Given the description of an element on the screen output the (x, y) to click on. 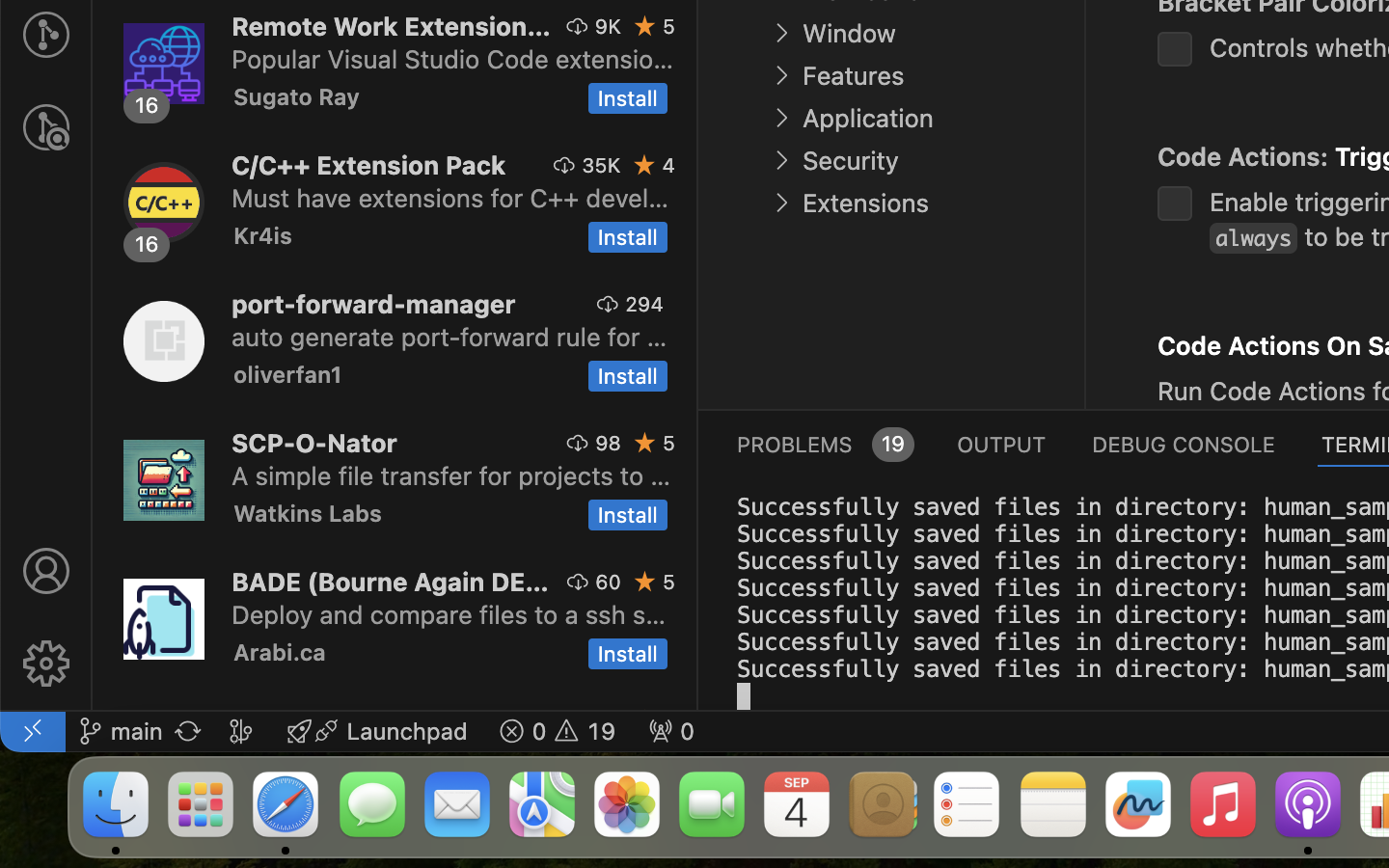
19 0   Element type: AXButton (557, 730)
Launchpad   Element type: AXButton (376, 730)
35K Element type: AXStaticText (601, 164)
main  Element type: AXButton (120, 730)
0  Element type: AXRadioButton (46, 127)
